Given the description of an element on the screen output the (x, y) to click on. 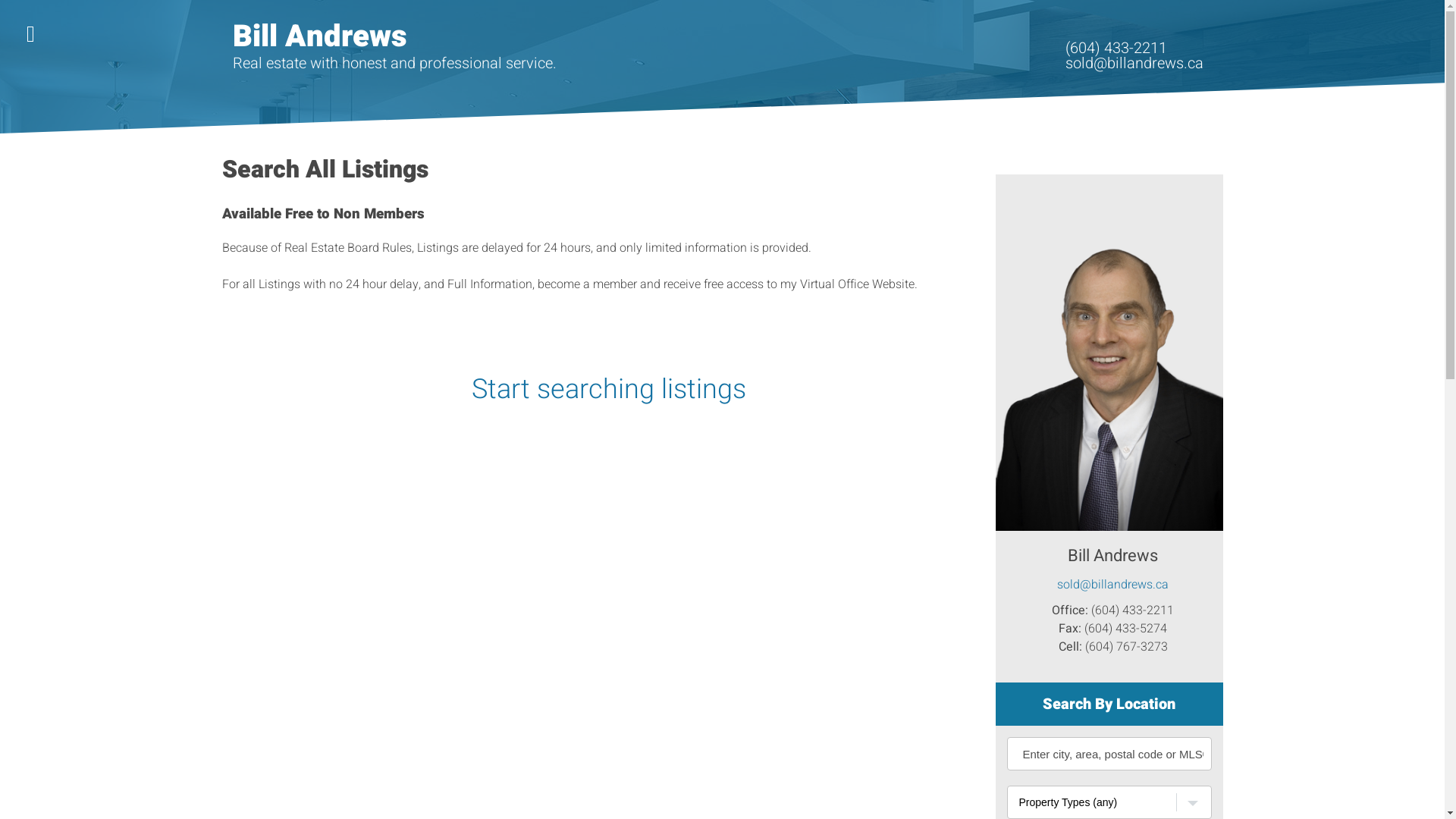
sold@billandrews.ca Element type: text (1112, 588)
(604) 433-2211 Element type: text (1116, 48)
Bill Andrews Element type: text (319, 36)
sold@billandrews.ca Element type: text (1134, 63)
Start searching listings Element type: text (608, 389)
